Given the description of an element on the screen output the (x, y) to click on. 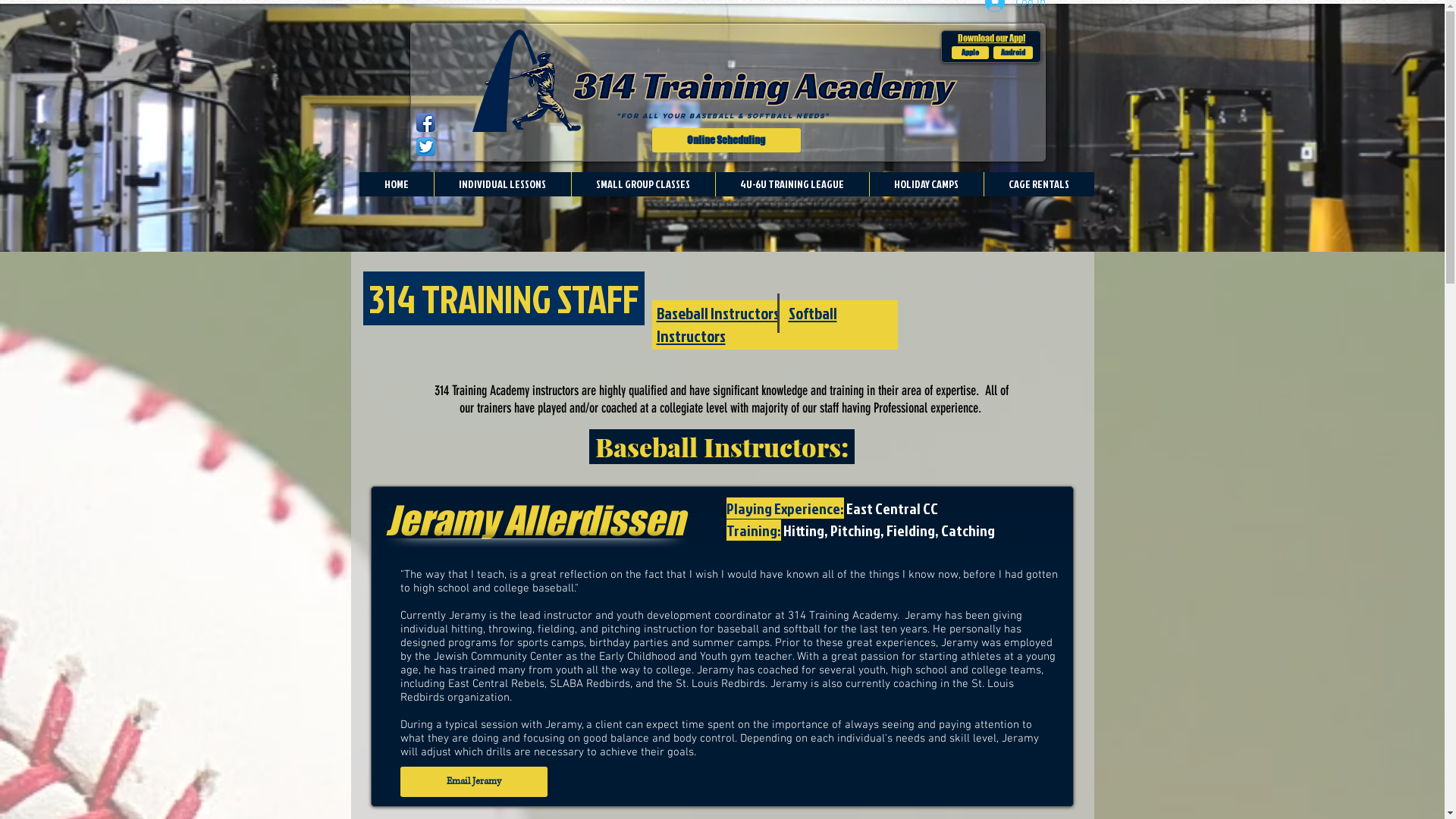
CAGE RENTALS Element type: text (1037, 184)
SMALL GROUP CLASSES Element type: text (642, 184)
HOLIDAY CAMPS Element type: text (926, 184)
Android Element type: text (1012, 52)
Softball Instructors Element type: text (746, 324)
INDIVIDUAL LESSONS Element type: text (502, 184)
Baseball Instructors Element type: text (717, 312)
4U-6U TRAINING LEAGUE Element type: text (791, 184)
Email Jeramy Element type: text (473, 781)
Online Scheduling Element type: text (726, 140)
314 Web Chat Element type: hover (1295, 641)
Apple Element type: text (969, 52)
HOME Element type: text (396, 184)
